Given the description of an element on the screen output the (x, y) to click on. 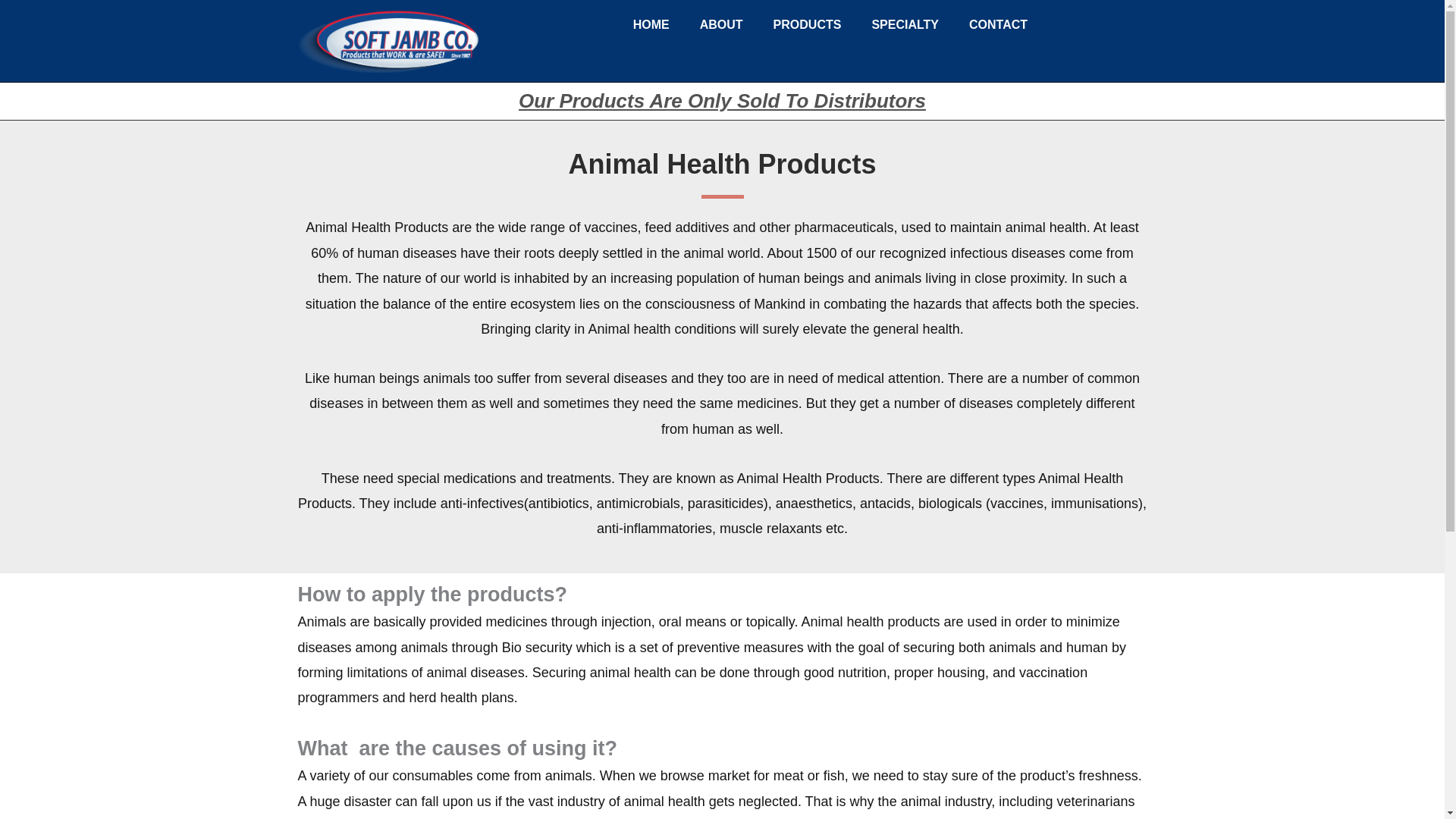
SPECIALTY (904, 24)
ABOUT (721, 24)
CONTACT (997, 24)
PRODUCTS (807, 24)
HOME (650, 24)
